Given the description of an element on the screen output the (x, y) to click on. 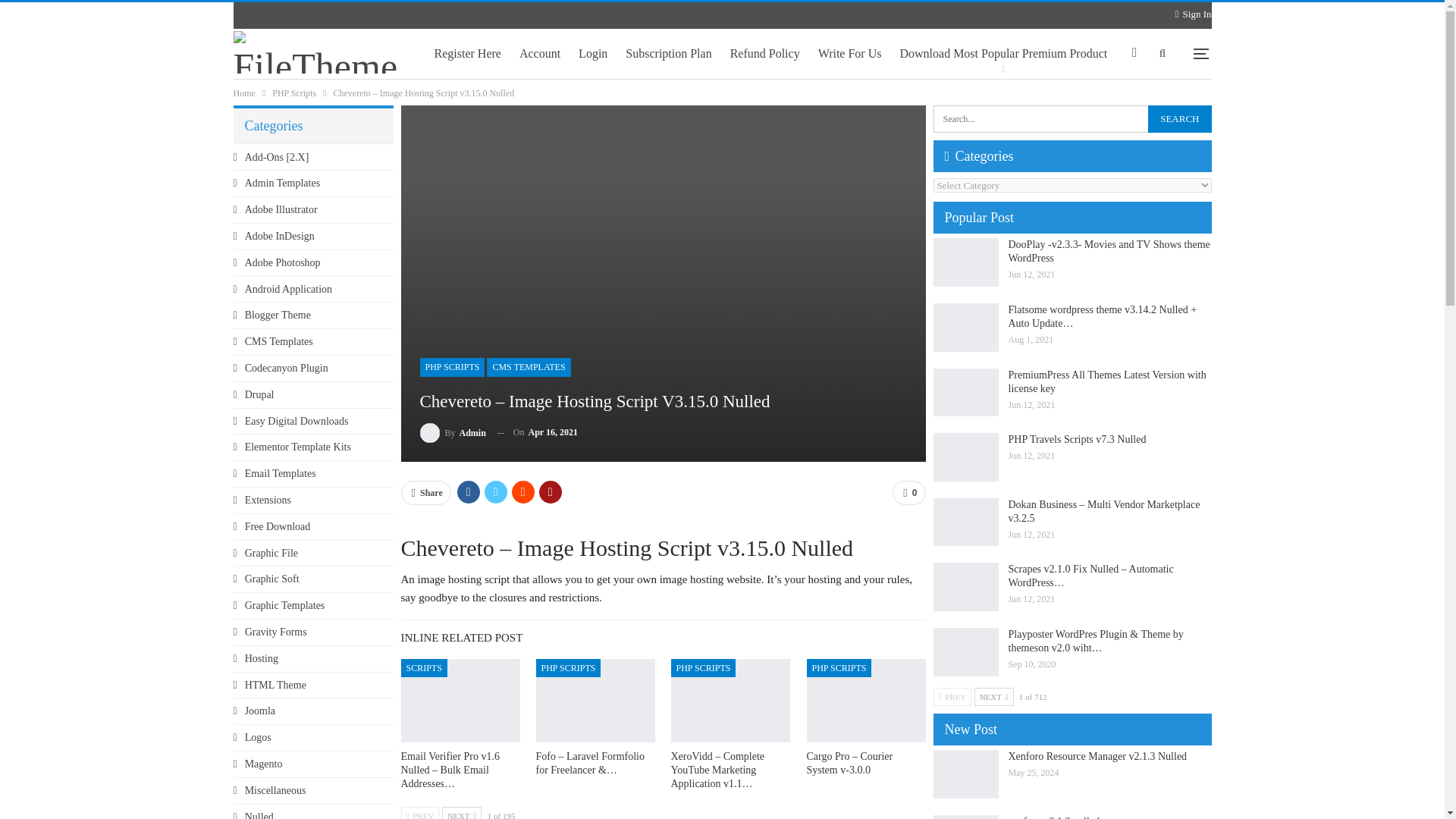
Previous (419, 812)
Search (1179, 118)
Search for: (1072, 118)
Search (1179, 118)
Next (461, 812)
Browse Author Articles (453, 432)
Sign In (1192, 13)
